Given the description of an element on the screen output the (x, y) to click on. 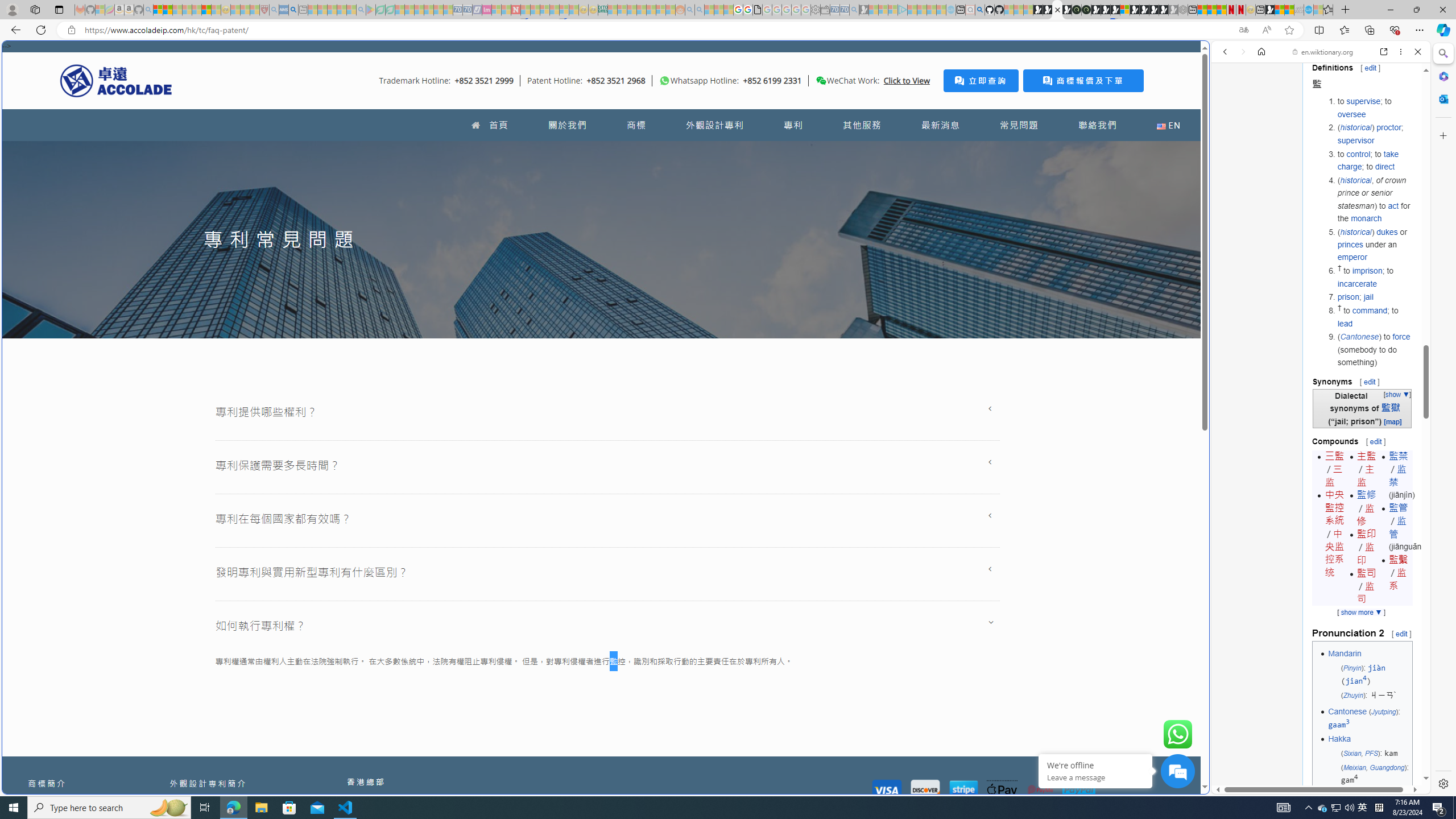
(historical) dukes or princes under an emperor (1374, 244)
